Given the description of an element on the screen output the (x, y) to click on. 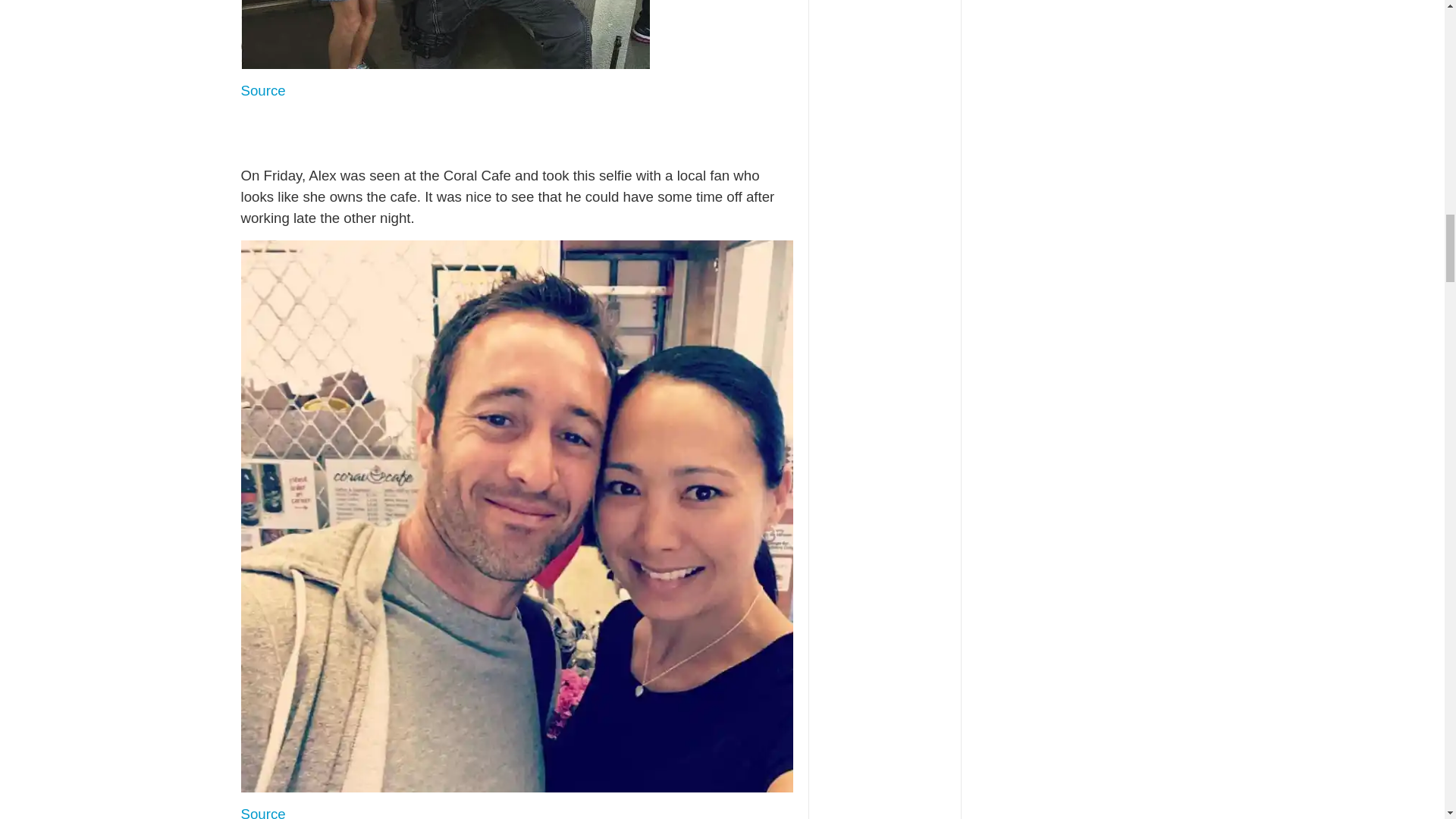
Source (263, 812)
Source (263, 90)
